Given the description of an element on the screen output the (x, y) to click on. 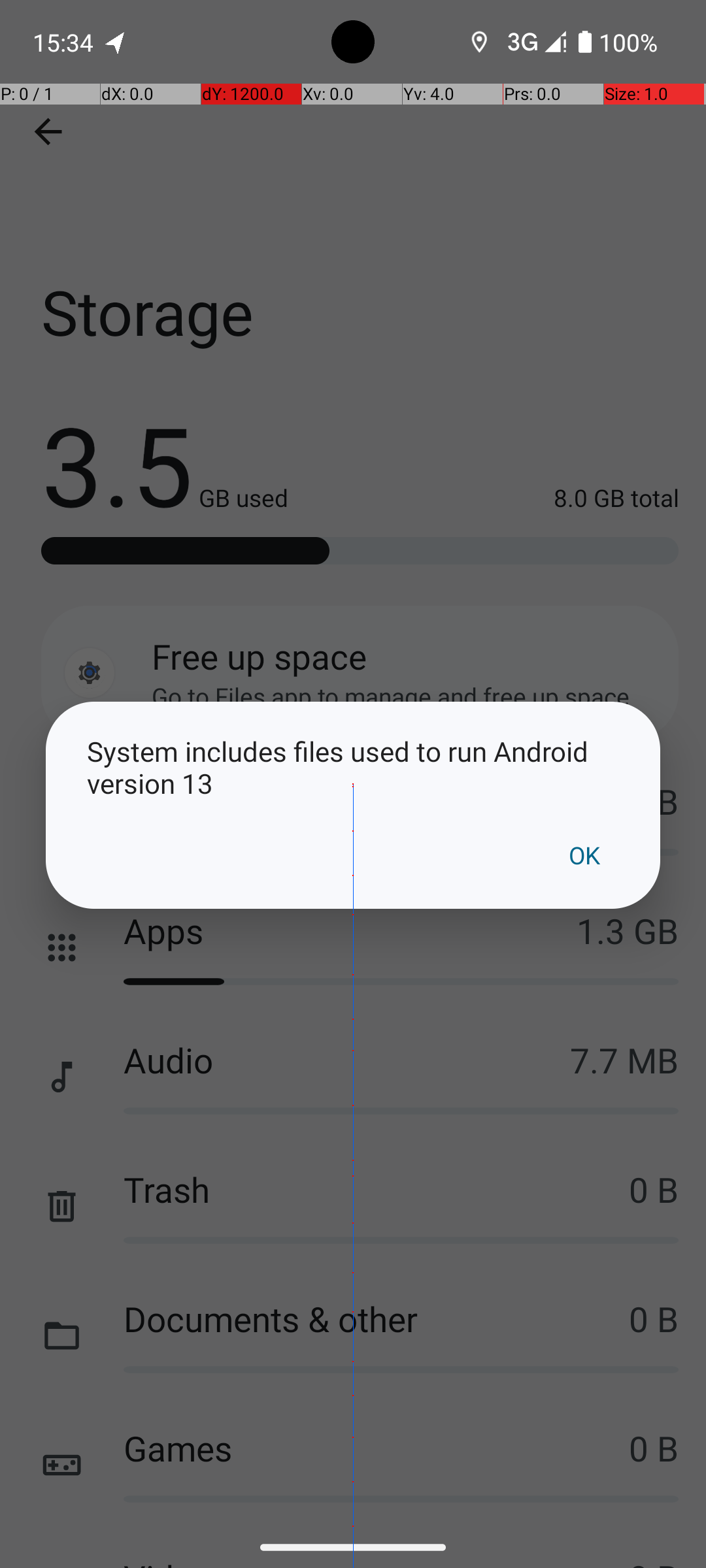
System includes files used to run Android version 13 Element type: android.widget.TextView (352, 766)
